Given the description of an element on the screen output the (x, y) to click on. 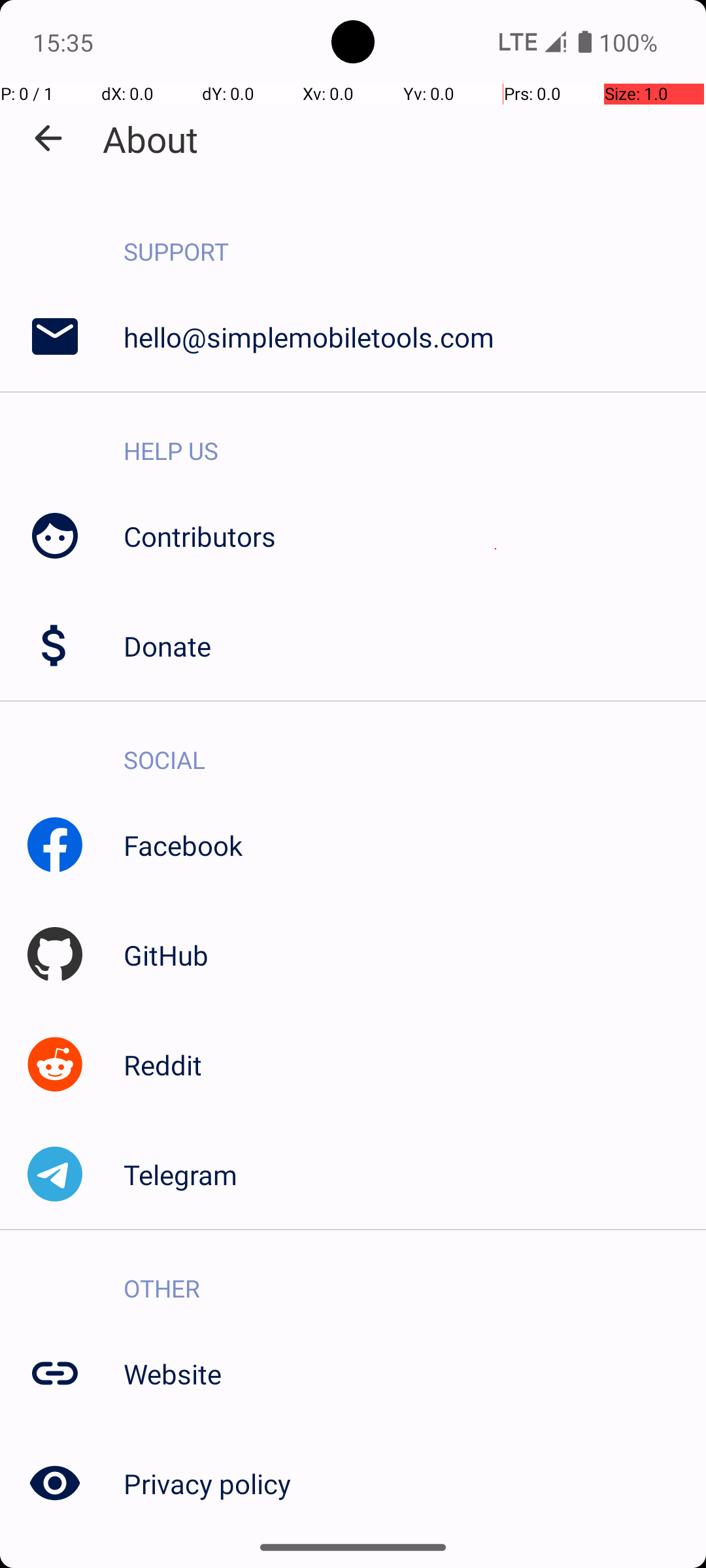
SUPPORT Element type: android.widget.TextView (414, 237)
HELP US Element type: android.widget.TextView (414, 436)
SOCIAL Element type: android.widget.TextView (414, 745)
OTHER Element type: android.widget.TextView (414, 1274)
hello@simplemobiletools.com Element type: android.widget.TextView (414, 336)
GitHub Element type: android.widget.TextView (414, 954)
Reddit Element type: android.widget.TextView (414, 1064)
Telegram Element type: android.widget.TextView (414, 1173)
Website Element type: android.widget.TextView (414, 1373)
